Given the description of an element on the screen output the (x, y) to click on. 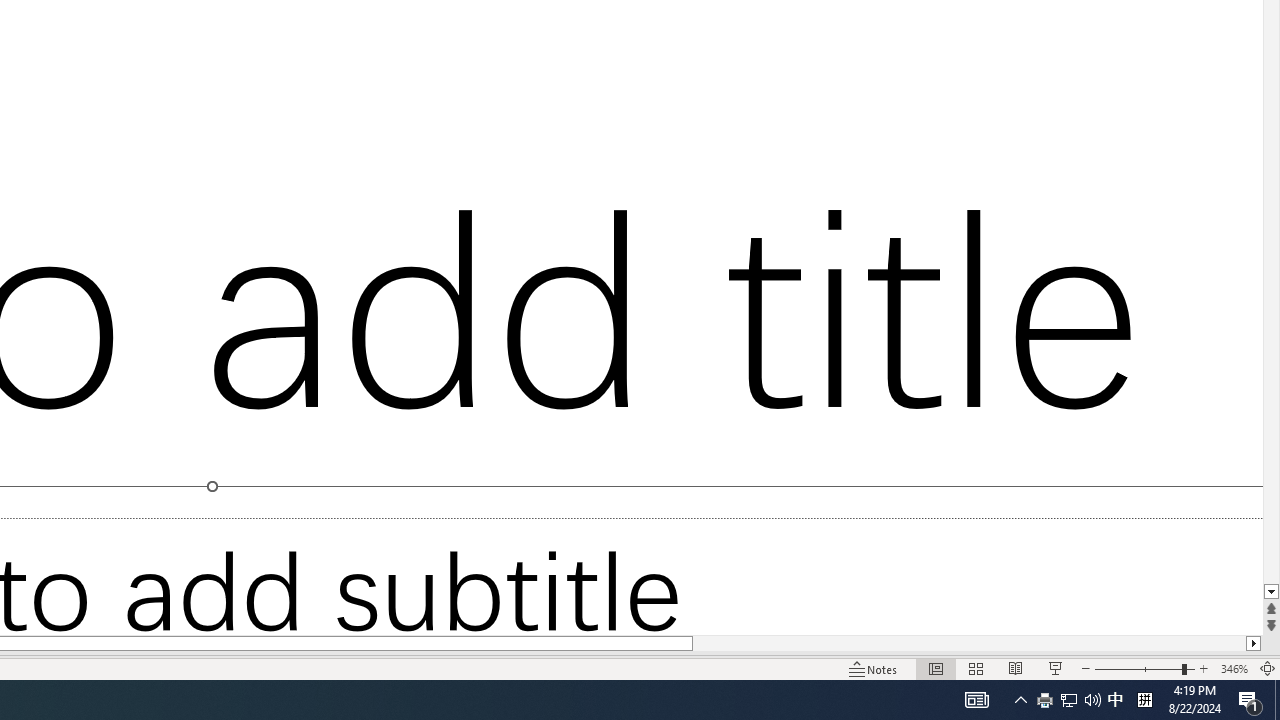
Zoom 346% (1234, 668)
